Given the description of an element on the screen output the (x, y) to click on. 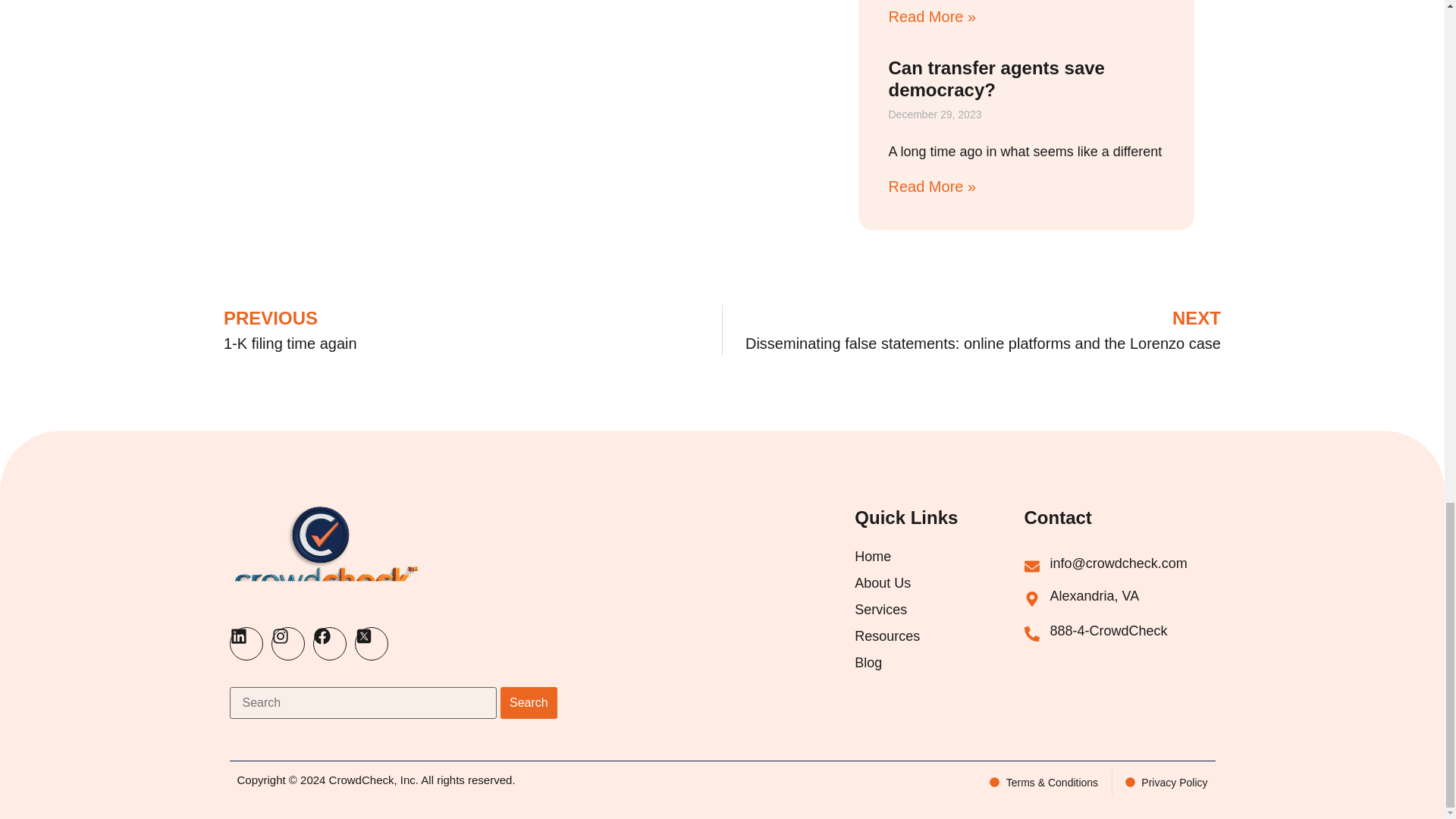
Resources (935, 636)
Can transfer agents save democracy? (996, 78)
Privacy Policy (1166, 782)
About Us (935, 583)
Search (528, 703)
Home (935, 556)
Alexandria, VA (1094, 595)
Services (935, 610)
Blog (935, 663)
